Given the description of an element on the screen output the (x, y) to click on. 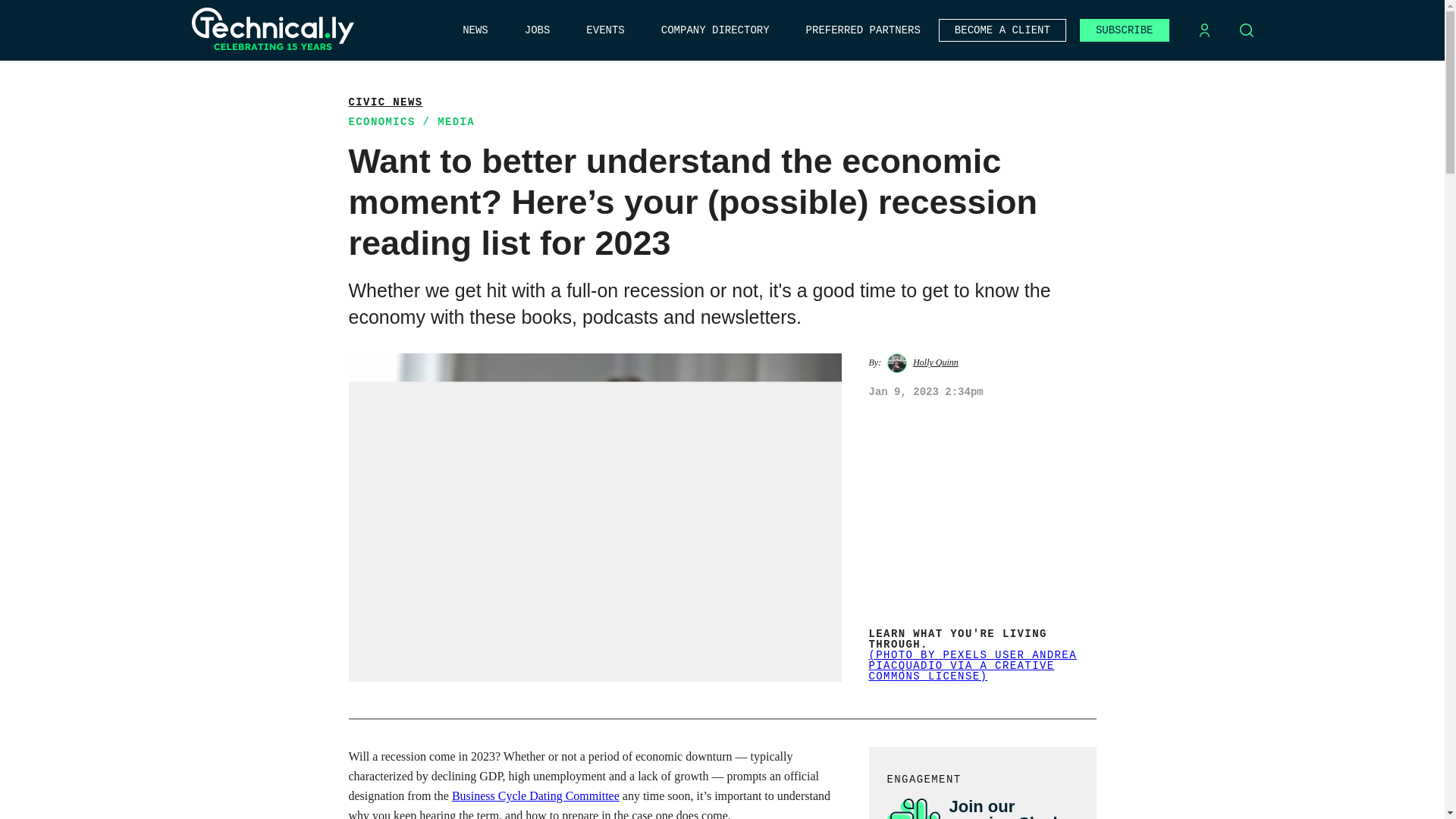
News (475, 30)
Events Board (605, 30)
PREFERRED PARTNERS (863, 30)
Become a Client (1002, 29)
NEWS (475, 30)
Holly Quinn (935, 362)
Jobs Board (537, 30)
Business Cycle Dating Committee (535, 795)
MEDIA (456, 121)
SUBSCRIBE (1124, 29)
EVENTS (605, 30)
COMPANY DIRECTORY (715, 30)
View more (386, 102)
BECOME A CLIENT (1002, 29)
CIVIC NEWS (386, 102)
